Given the description of an element on the screen output the (x, y) to click on. 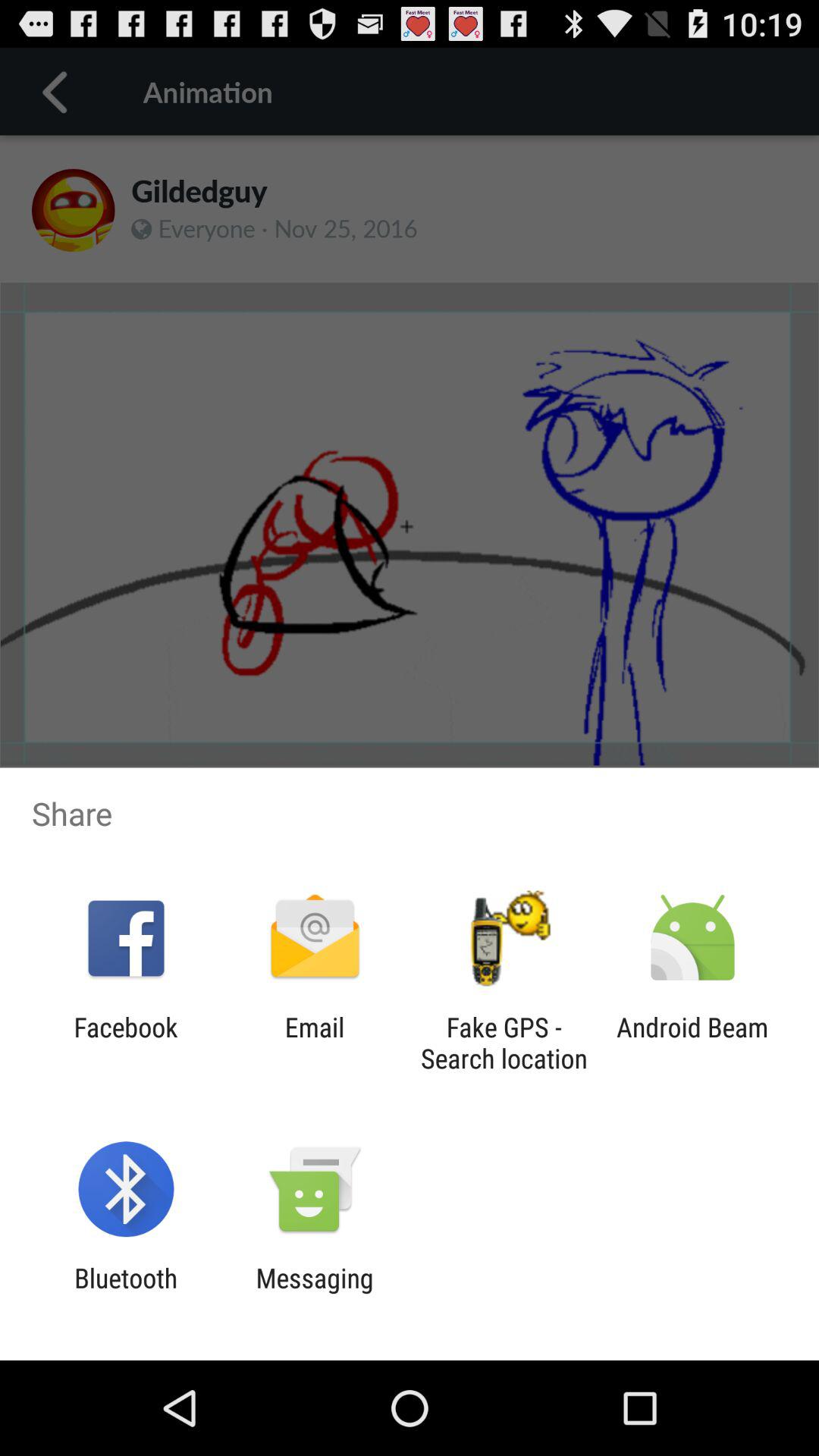
choose the app to the right of the bluetooth (314, 1293)
